Given the description of an element on the screen output the (x, y) to click on. 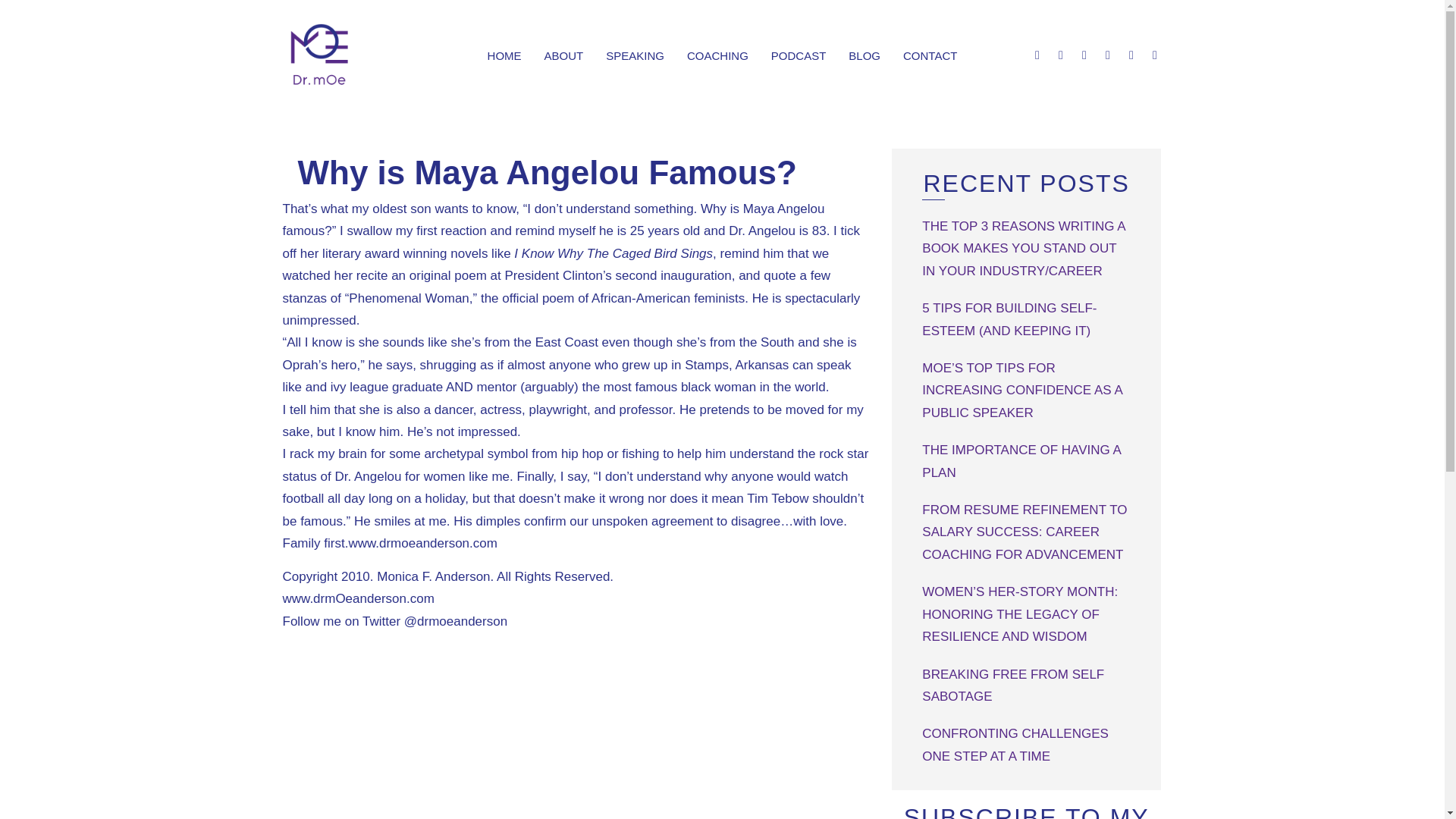
CONFRONTING CHALLENGES ONE STEP AT A TIME (1014, 744)
CONTACT (929, 55)
BREAKING FREE FROM SELF SABOTAGE (1012, 685)
THE IMPORTANCE OF HAVING A PLAN (1021, 461)
ABOUT (563, 55)
SPEAKING (634, 55)
PODCAST (799, 55)
COACHING (717, 55)
